Given the description of an element on the screen output the (x, y) to click on. 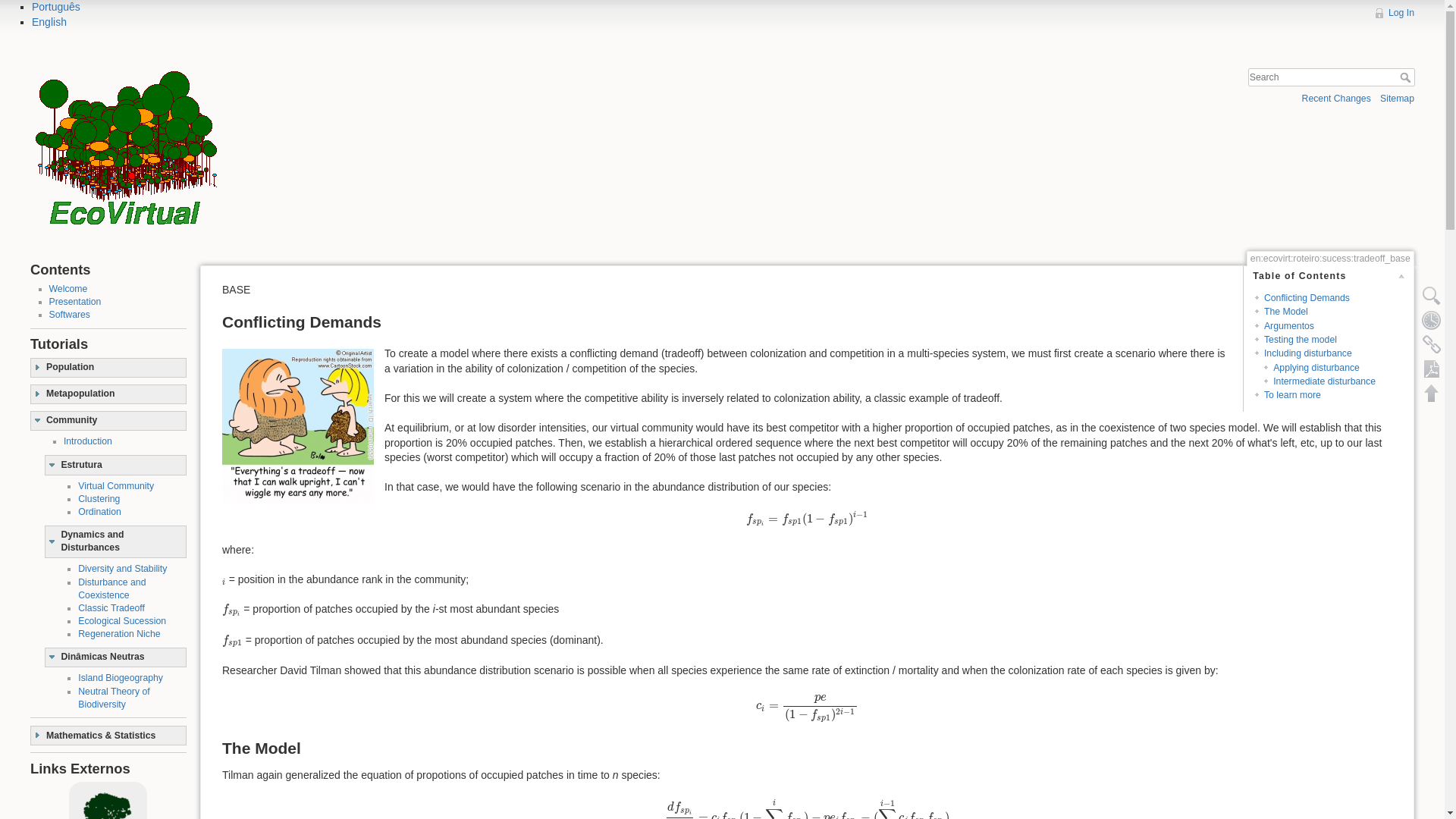
Neutral Theory of Biodiversity Element type: text (113, 697)
Ordination Element type: text (99, 511)
Export to PDF Element type: hover (1431, 368)
Welcome Element type: text (67, 288)
Island Biogeography Element type: text (120, 677)
Classic Tradeoff Element type: text (111, 607)
To learn more Element type: text (1292, 394)
Back to top [T] Element type: hover (1431, 392)
Search Element type: text (1406, 77)
[F] Element type: hover (1331, 77)
English Element type: text (48, 21)
Including disturbance Element type: text (1308, 353)
Show pagesource [V] Element type: hover (1431, 295)
Recent Changes Element type: text (1336, 98)
Ecological Sucession Element type: text (122, 620)
Intermediate disturbance Element type: text (1324, 381)
rman10556l.png Element type: hover (297, 426)
Log In Element type: text (1393, 12)
Virtual Community Element type: text (115, 485)
Diversity and Stability Element type: text (122, 568)
Argumentos Element type: text (1289, 325)
Sitemap Element type: text (1397, 98)
Testing the model Element type: text (1300, 339)
Introduction Element type: text (87, 441)
Softwares Element type: text (68, 314)
Regeneration Niche Element type: text (119, 633)
The Model Element type: text (1286, 311)
[H] Element type: hover (369, 69)
Disturbance and Coexistence Element type: text (111, 588)
Old revisions [O] Element type: hover (1431, 319)
Backlinks Element type: hover (1431, 344)
Conflicting Demands Element type: text (1306, 297)
Presentation Element type: text (74, 301)
Applying disturbance Element type: text (1316, 367)
Clustering Element type: text (98, 498)
